Given the description of an element on the screen output the (x, y) to click on. 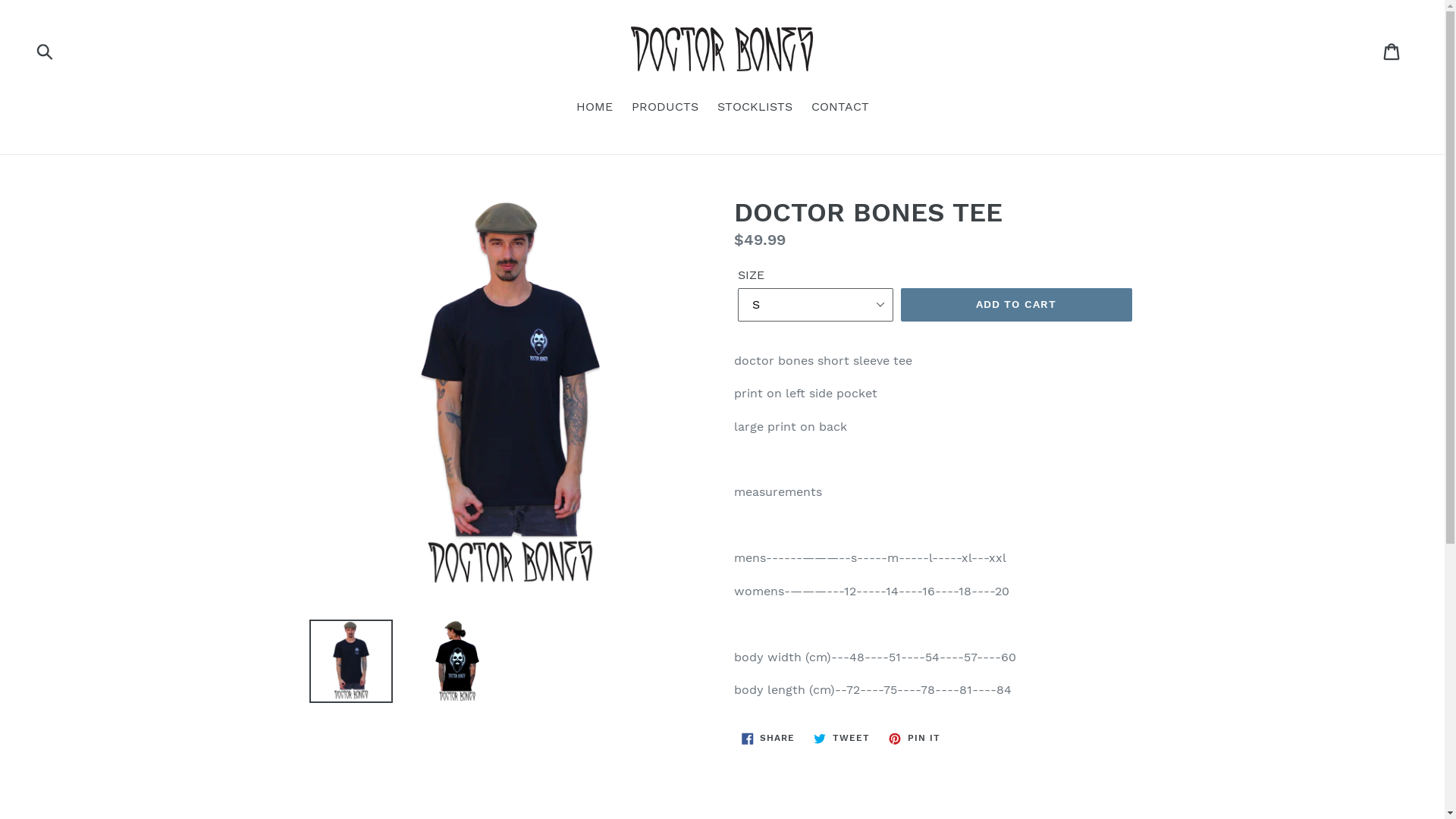
PRODUCTS Element type: text (664, 107)
SHARE
SHARE ON FACEBOOK Element type: text (768, 738)
TWEET
TWEET ON TWITTER Element type: text (841, 738)
PIN IT
PIN ON PINTEREST Element type: text (914, 738)
HOME Element type: text (594, 107)
Submit Element type: text (45, 50)
Cart Element type: text (1392, 51)
STOCKLISTS Element type: text (754, 107)
CONTACT Element type: text (839, 107)
ADD TO CART Element type: text (1016, 304)
